Given the description of an element on the screen output the (x, y) to click on. 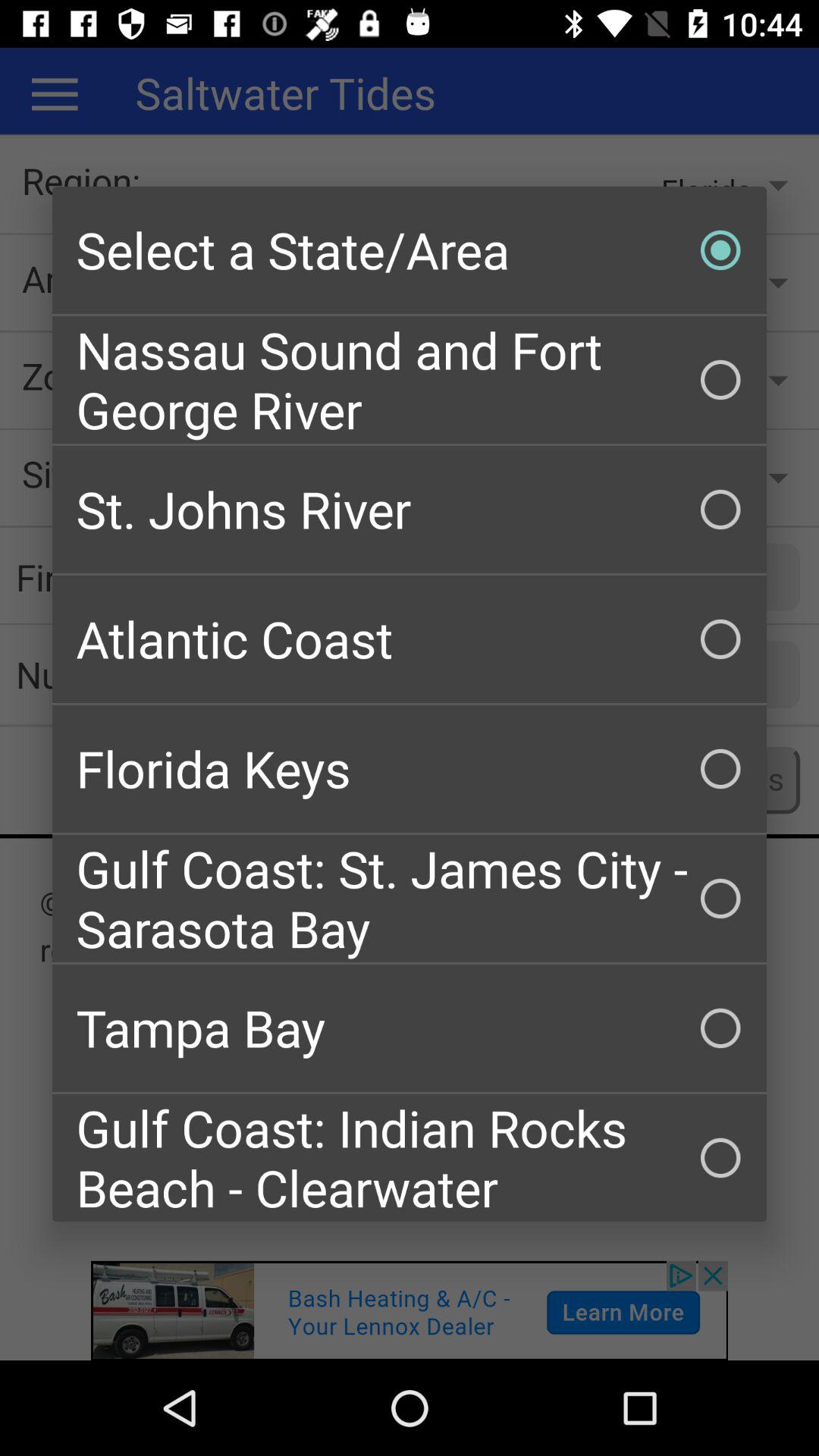
turn off the item above the gulf coast indian (409, 1028)
